Given the description of an element on the screen output the (x, y) to click on. 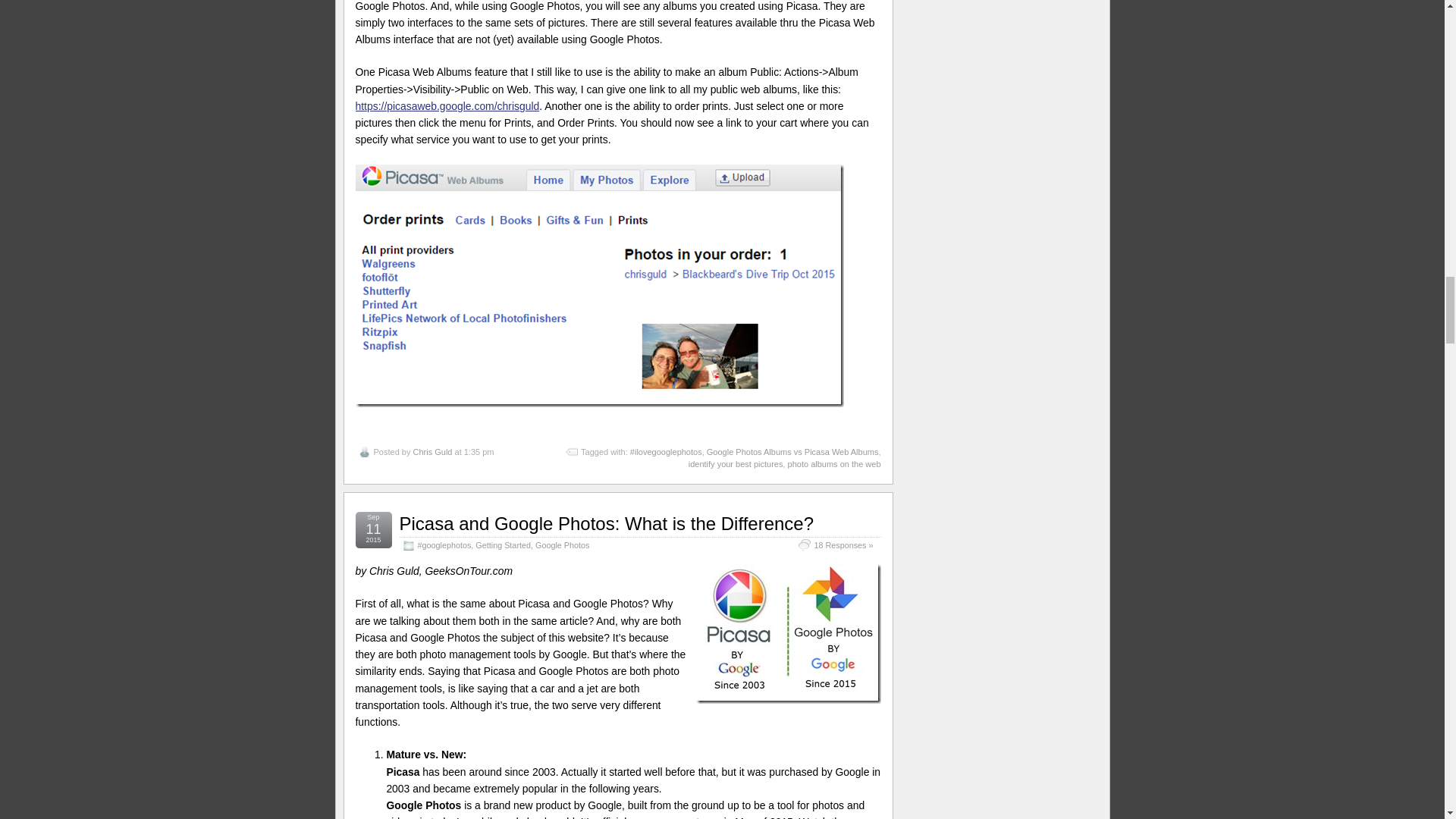
Picasa and Google Photos: What is the Difference? (605, 523)
Google Photos Albums vs Picasa Web Albums (792, 451)
picasa-vs-photos (787, 633)
Chris Guld (431, 451)
photo albums on the web (833, 463)
identify your best pictures (735, 463)
Picasa and Google Photos: What is the Difference? (605, 523)
image (599, 285)
